Given the description of an element on the screen output the (x, y) to click on. 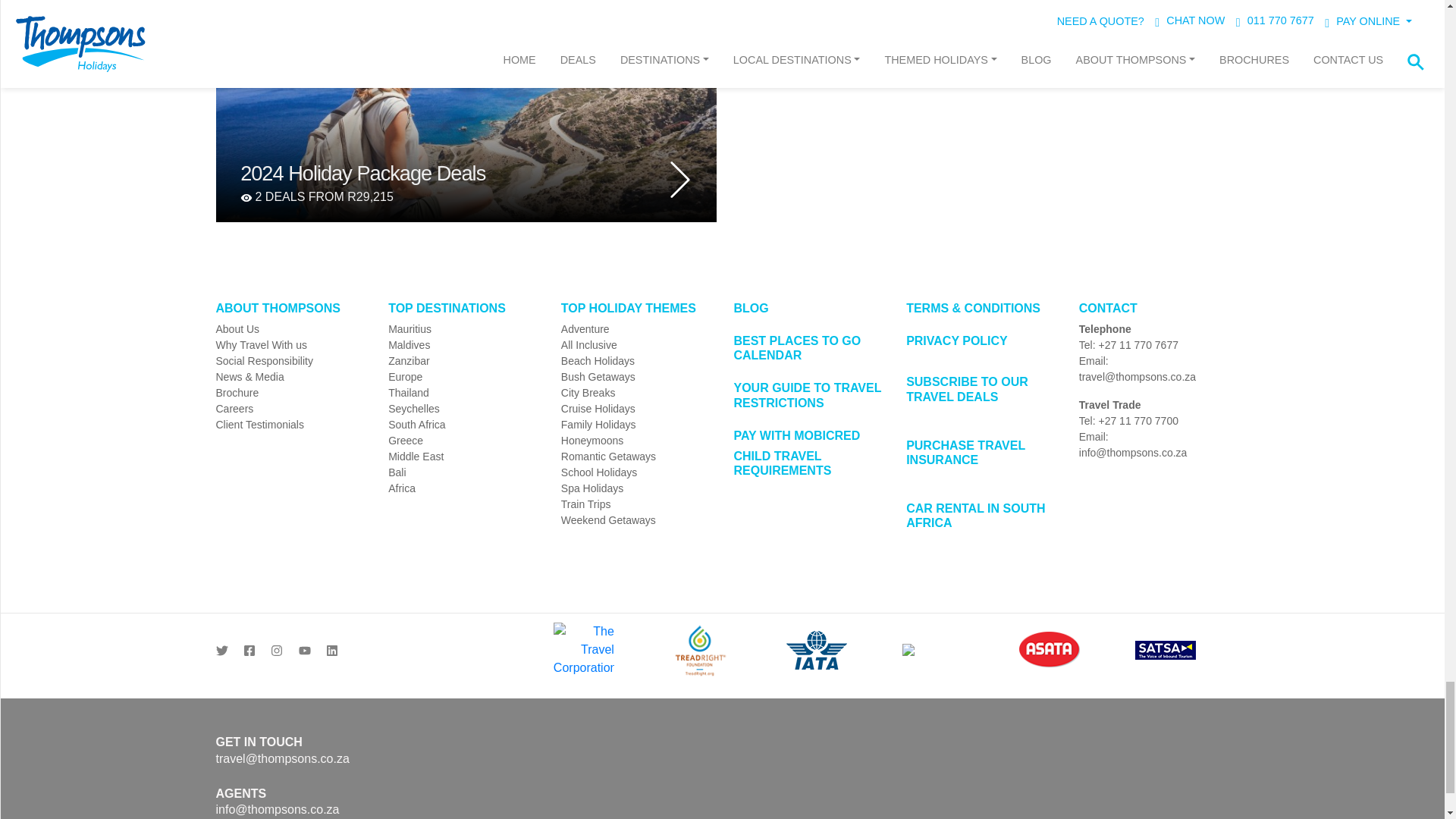
Zanzibar (463, 360)
Travel Brochures (290, 392)
Europe (463, 376)
Middle East (463, 456)
Mauritius (463, 329)
Adventure Holidays (635, 329)
2024 Holiday Package Deals (457, 174)
Thailand (463, 392)
Greece (463, 440)
Seychelles (463, 408)
